Given the description of an element on the screen output the (x, y) to click on. 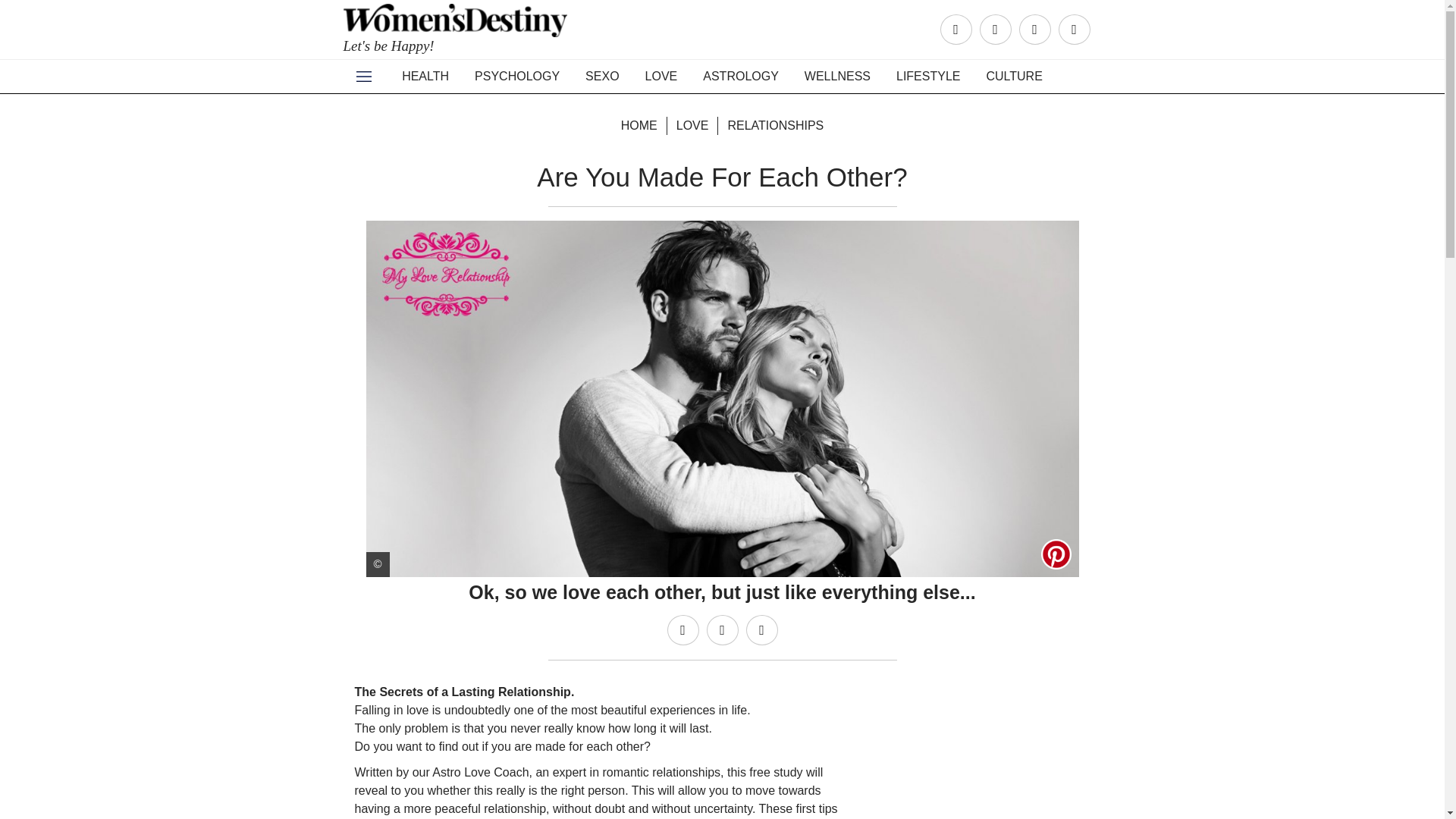
SEXO (601, 76)
LOVE (661, 76)
HEALTH (424, 76)
Let's be Happy! (456, 34)
PSYCHOLOGY (516, 76)
SEXO (601, 76)
PSYCHOLOGY (516, 76)
HEALTH (424, 76)
ASTROLOGY (740, 76)
